Given the description of an element on the screen output the (x, y) to click on. 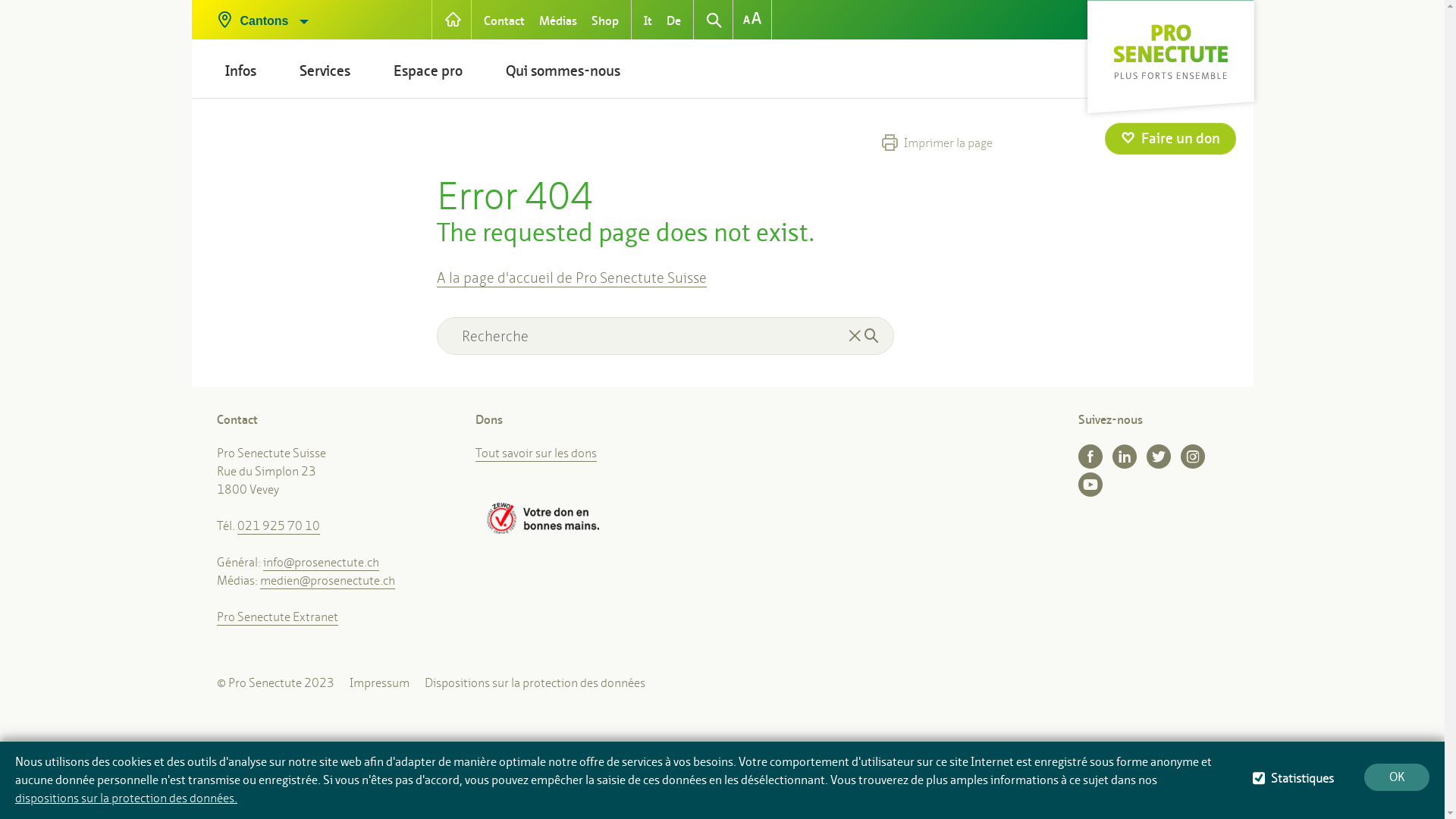
info@prosenectute.ch Element type: text (321, 562)
Infos Element type: text (240, 70)
021 925 70 10 Element type: text (278, 525)
Contact Element type: text (503, 15)
Services Element type: text (324, 70)
medien@prosenectute.ch Element type: text (327, 580)
Cantons Element type: text (316, 15)
Tout savoir sur les dons Element type: text (535, 453)
De Element type: text (672, 15)
It Element type: text (647, 15)
A la page d'accueil de Pro Senectute Suisse Element type: text (571, 277)
Shop Element type: text (604, 15)
Qui sommes-nous Element type: text (562, 70)
Imprimer la page Element type: text (936, 142)
Impressum Element type: text (379, 682)
Espace pro Element type: text (427, 70)
Faire un don Element type: text (1170, 138)
Pro Senectute Extranet Element type: text (277, 616)
